Given the description of an element on the screen output the (x, y) to click on. 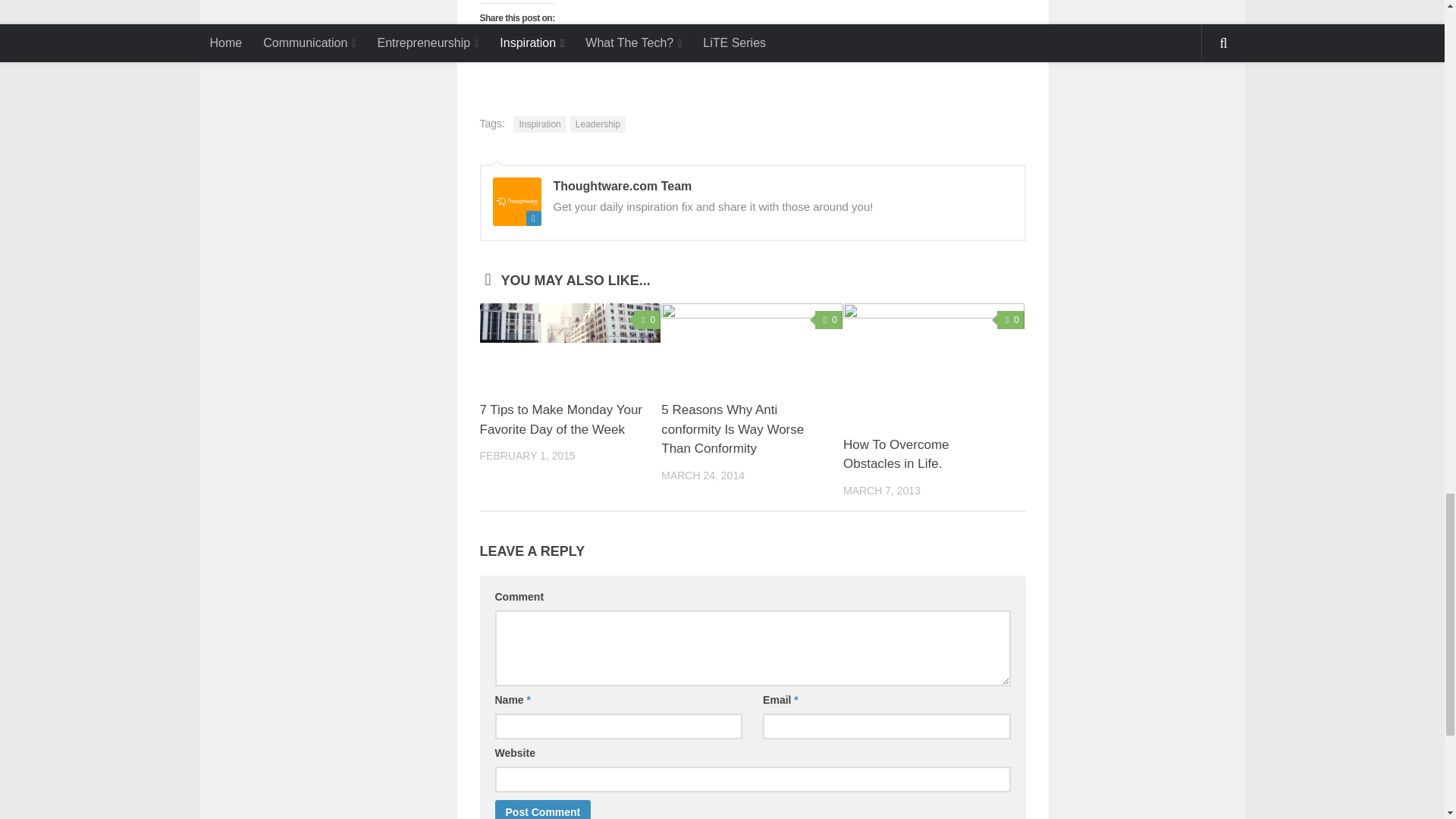
Post Comment (543, 809)
5 Reasons Why Anti conformity Is Way Worse Than Conformity (732, 428)
Click to share on Twitter (520, 45)
Click to share on LinkedIn (547, 45)
7 Tips to Make Monday Your Favorite Day of the Week (560, 419)
Click to share on Tumblr (603, 45)
7 Tips to Make Monday Your Favorite Day of the Week (570, 345)
Click to email this to a friend (659, 45)
Click to print (688, 45)
Click to share on Reddit (632, 45)
